Given the description of an element on the screen output the (x, y) to click on. 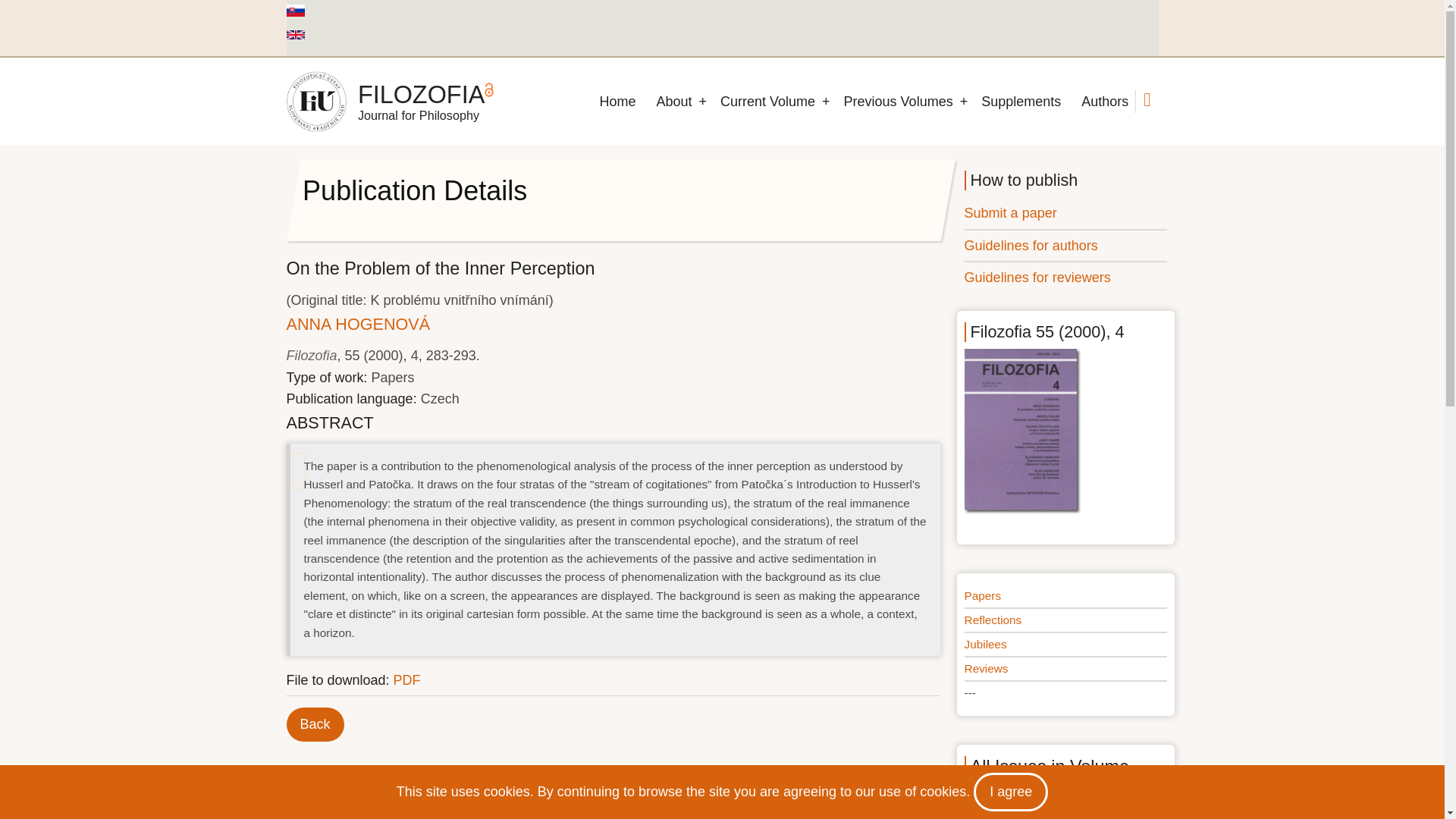
Current Volume (767, 101)
English (295, 34)
Home (421, 94)
FILOZOFIA (421, 94)
Authors (1104, 101)
Supplements (1020, 101)
About (673, 101)
Home (316, 101)
Previous Volumes (898, 101)
Home (617, 101)
